Given the description of an element on the screen output the (x, y) to click on. 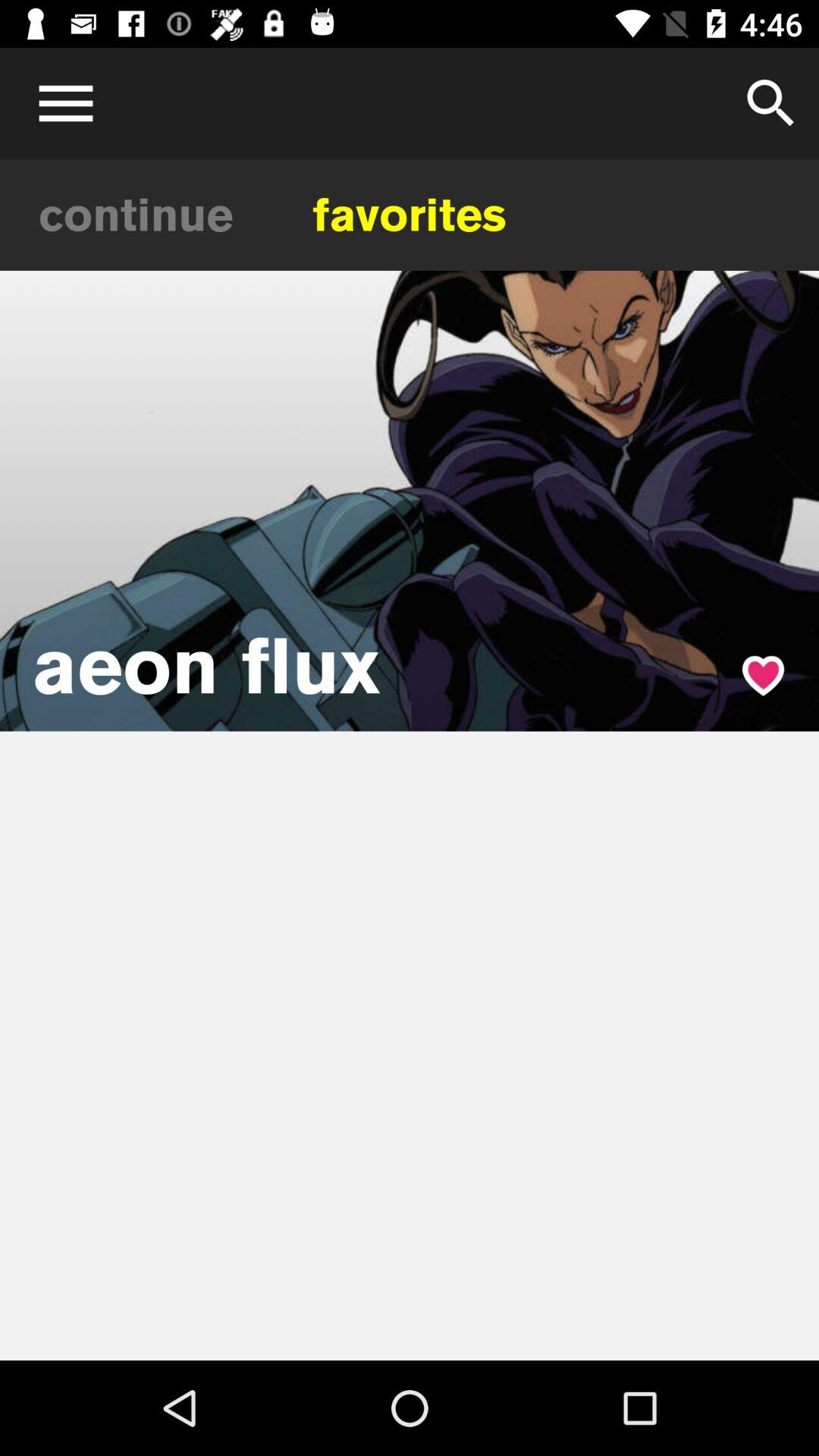
toggle favorite (763, 675)
